Given the description of an element on the screen output the (x, y) to click on. 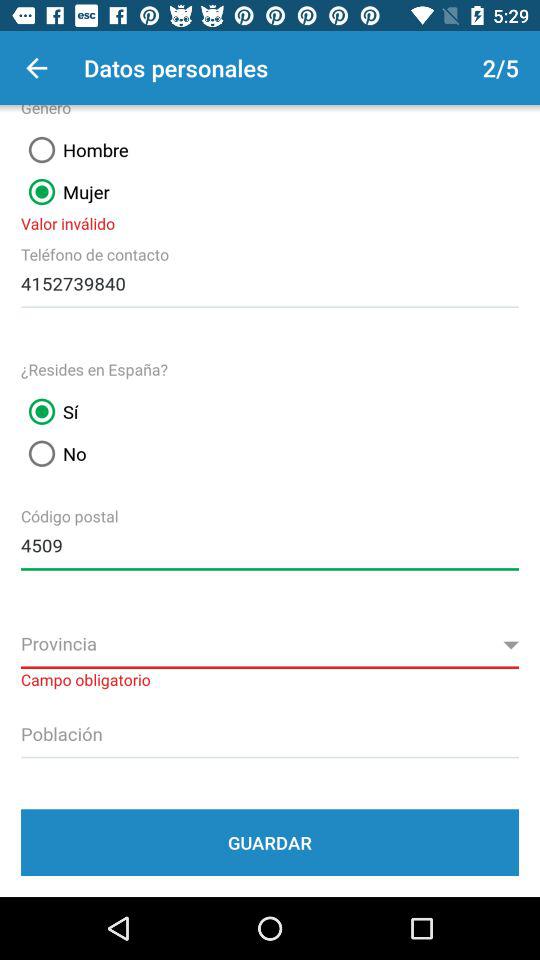
move to the text telefono de contacto 4152739840 (269, 280)
click on si (49, 411)
select guardar (269, 842)
click on the provincia option (269, 645)
select the no check box (53, 453)
click the option above guardar (269, 731)
